Given the description of an element on the screen output the (x, y) to click on. 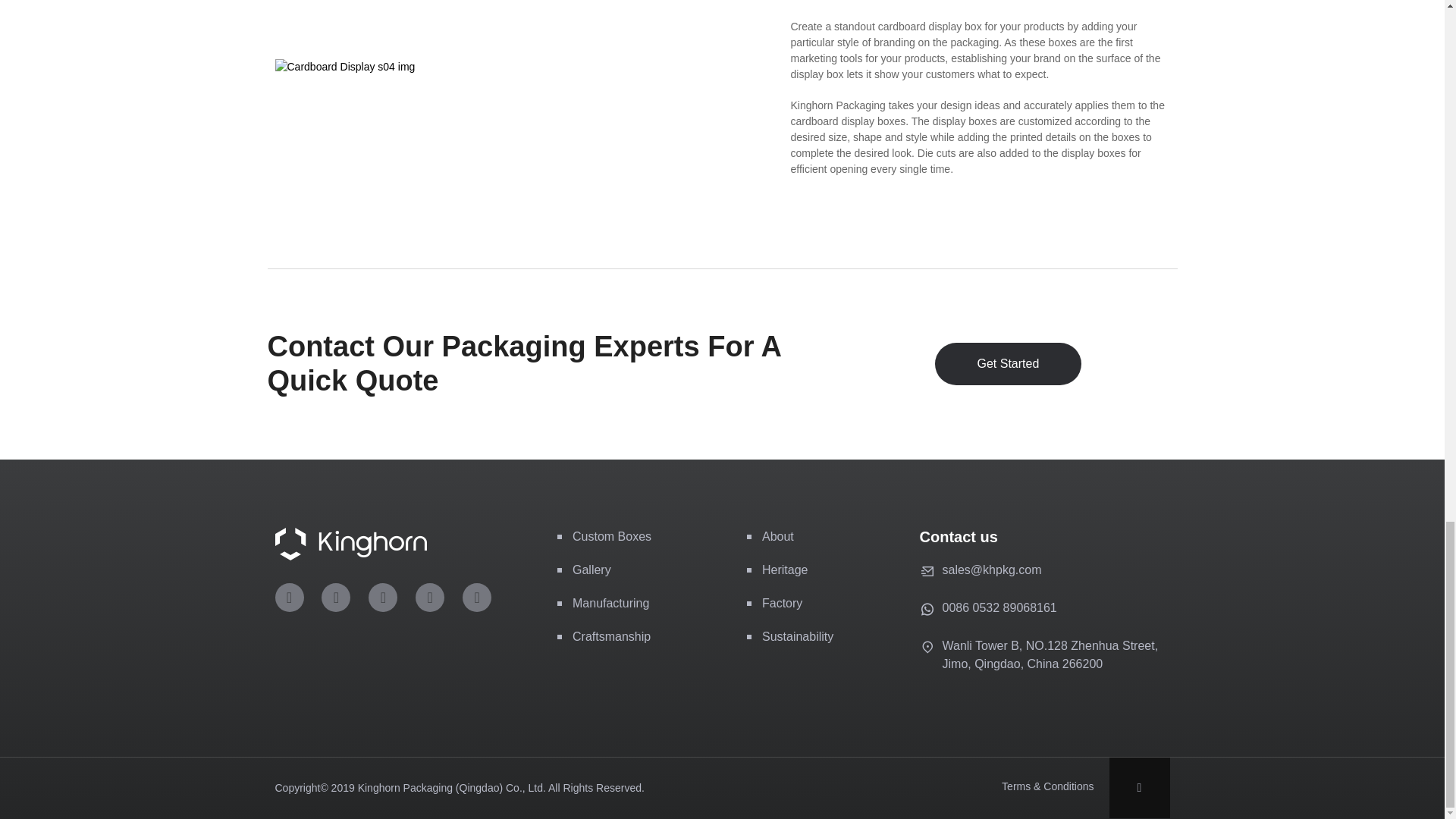
Sustainability (796, 635)
Gallery (591, 569)
Heritage (784, 569)
Factory (781, 603)
About (777, 535)
Craftsmanship (611, 635)
Get Started (1007, 363)
Manufacturing (610, 603)
Custom Boxes (611, 535)
